Given the description of an element on the screen output the (x, y) to click on. 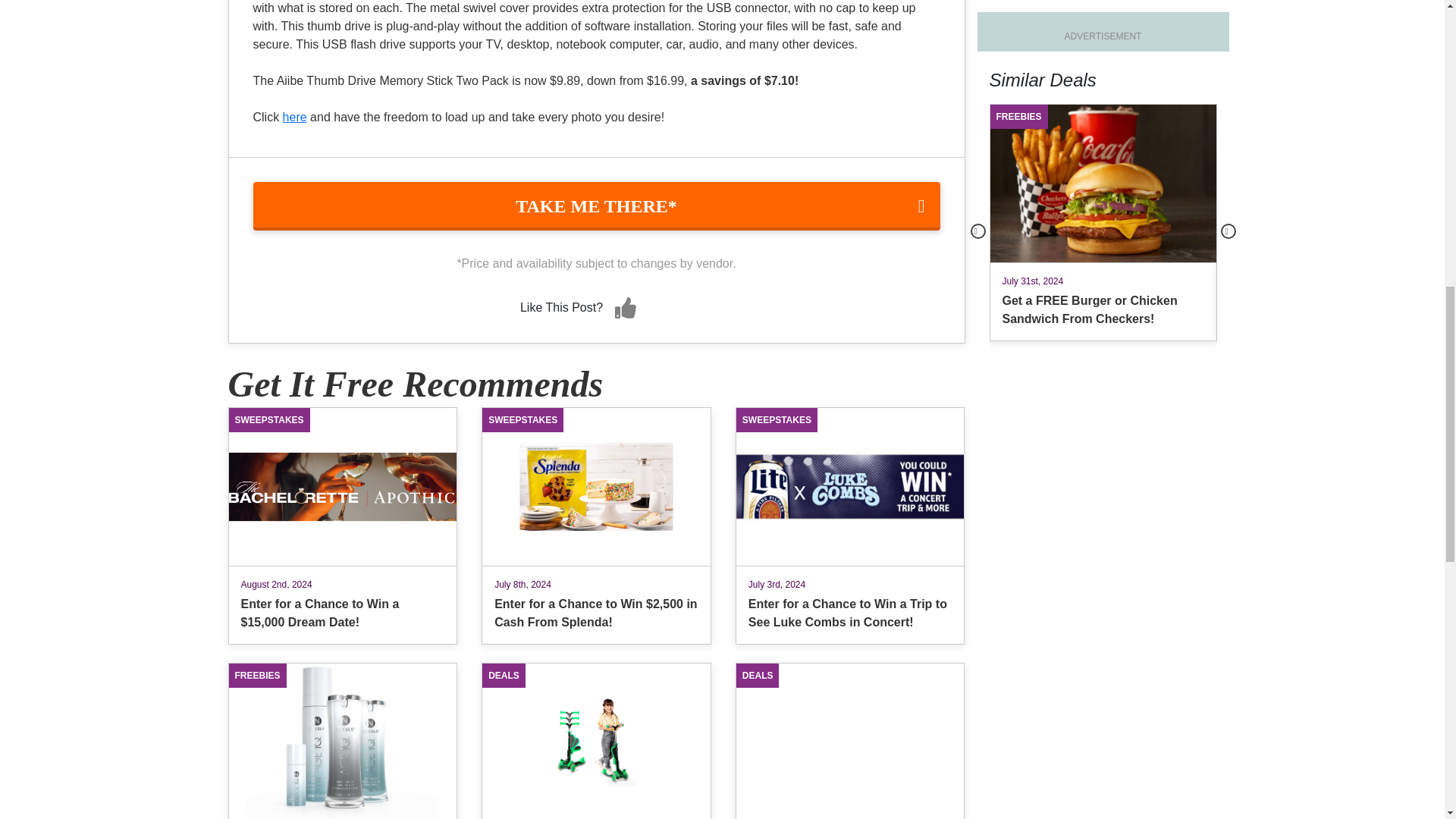
here (294, 116)
